Given the description of an element on the screen output the (x, y) to click on. 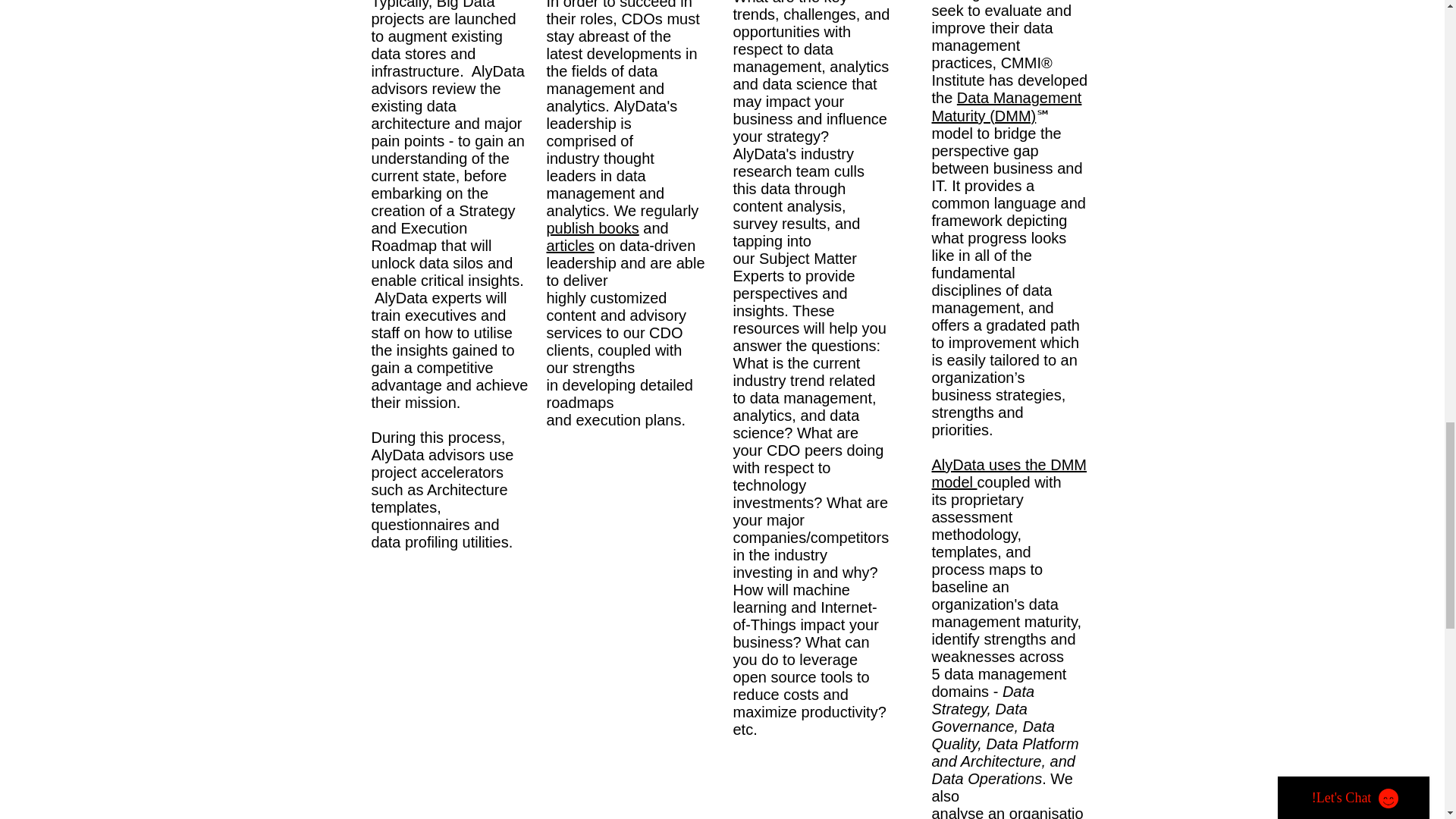
External YouTube (594, 782)
publish books (592, 228)
AlyData uses the DMM model (1008, 473)
articles (570, 245)
